Given the description of an element on the screen output the (x, y) to click on. 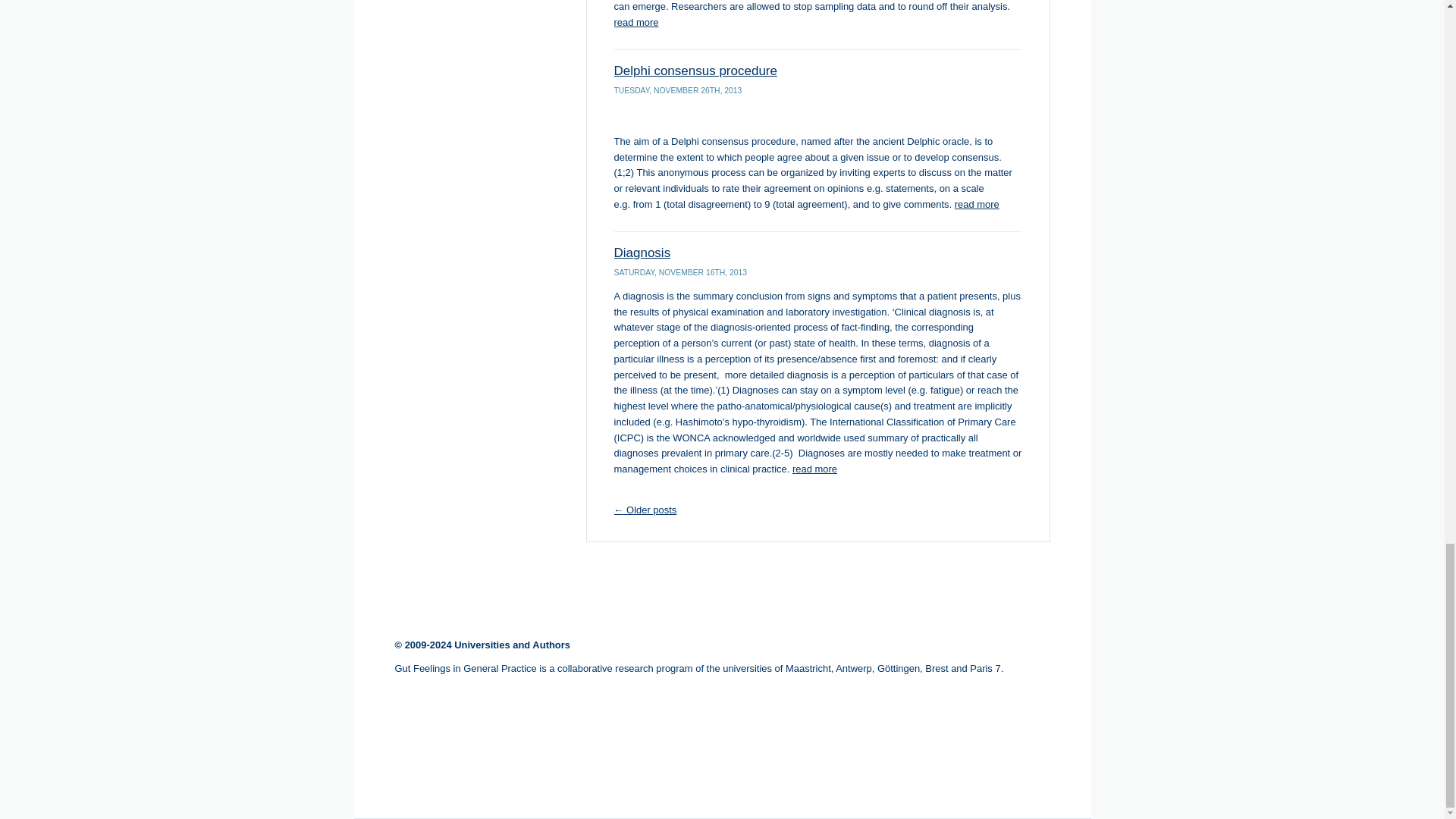
Permalink to Diagnosis (642, 252)
read more (636, 21)
read more (814, 469)
Delphi consensus procedure (695, 70)
read more (976, 204)
Diagnosis (642, 252)
Permalink to Delphi consensus procedure (695, 70)
